Given the description of an element on the screen output the (x, y) to click on. 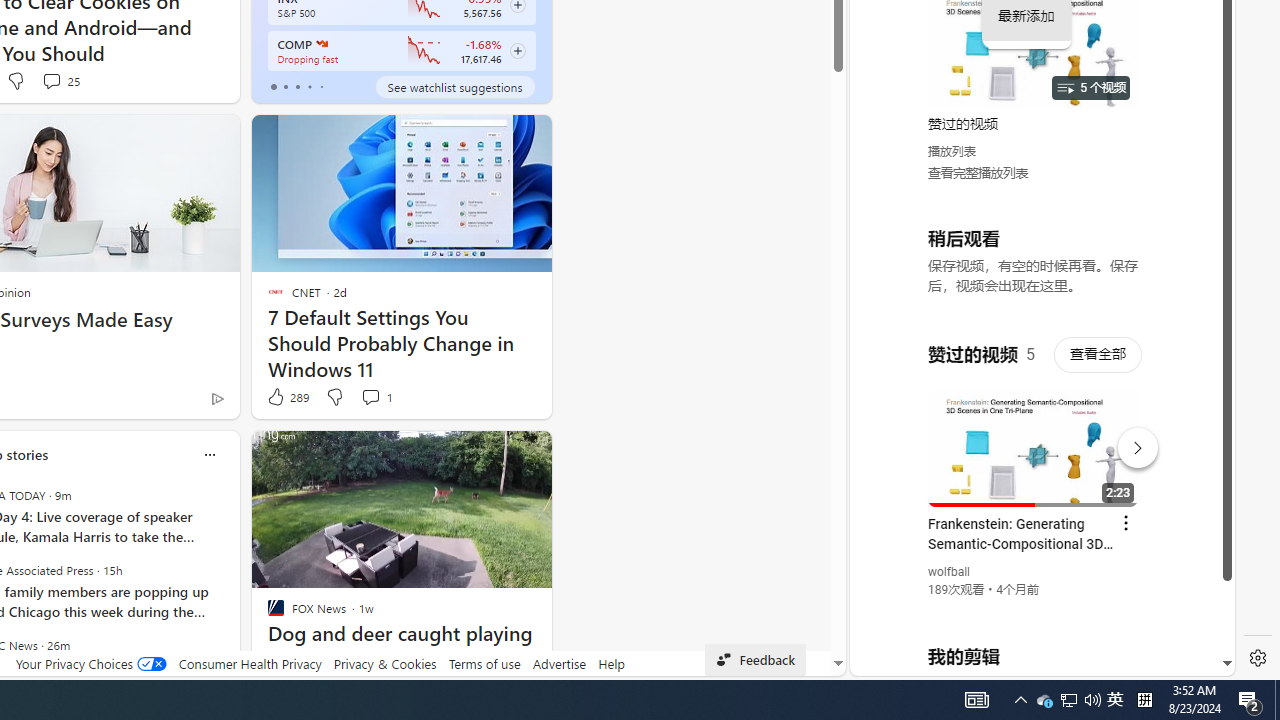
tab-0 (273, 86)
tab-2 (297, 86)
See watchlist suggestions (454, 86)
